Given the description of an element on the screen output the (x, y) to click on. 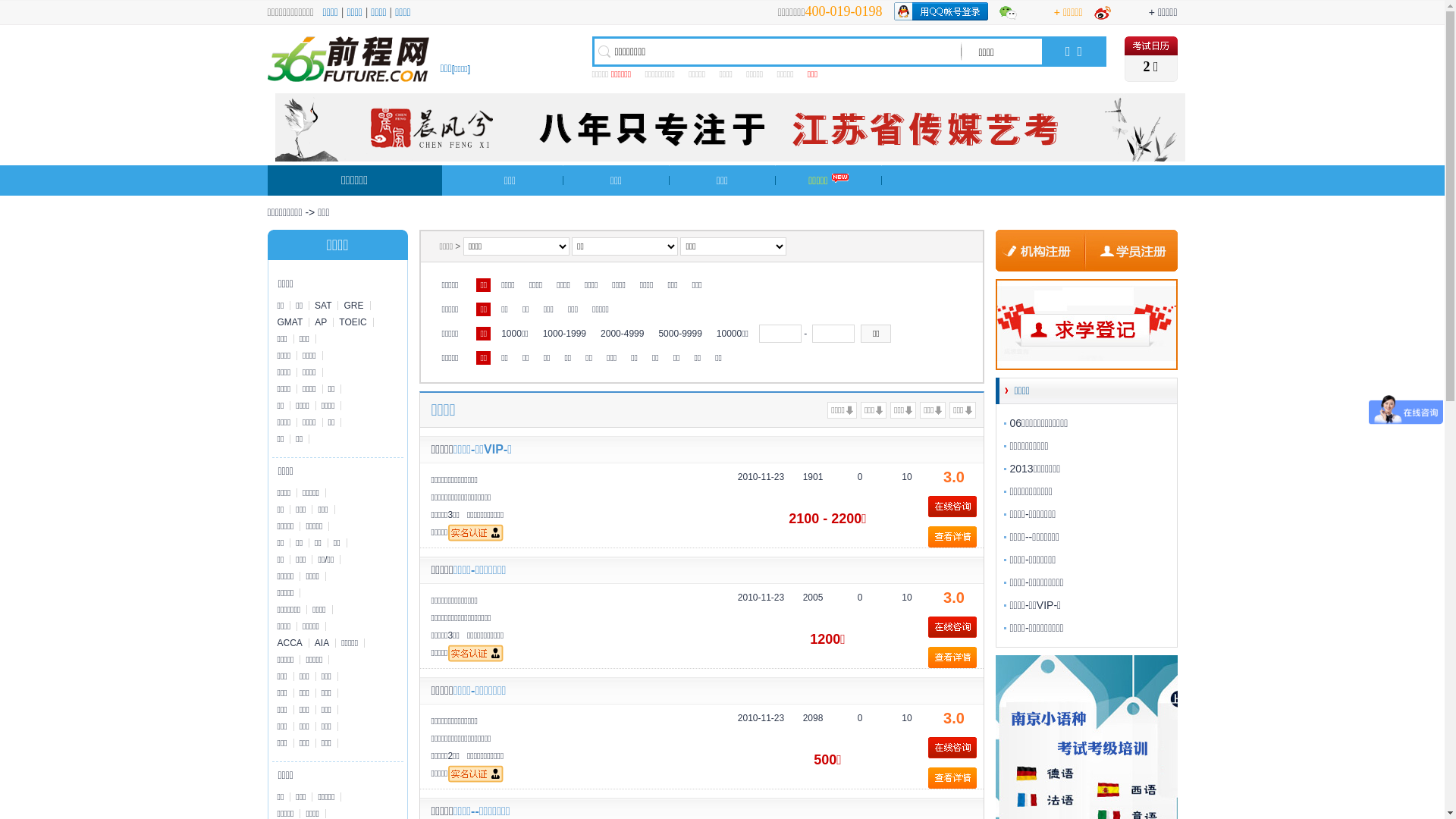
TOEIC Element type: text (353, 321)
ACCA Element type: text (289, 642)
2000-4999 Element type: text (621, 333)
SAT Element type: text (323, 305)
AIA Element type: text (322, 642)
5000-9999 Element type: text (679, 333)
GMAT Element type: text (290, 321)
GRE Element type: text (354, 305)
1000-1999 Element type: text (564, 333)
AP Element type: text (321, 321)
